Given the description of an element on the screen output the (x, y) to click on. 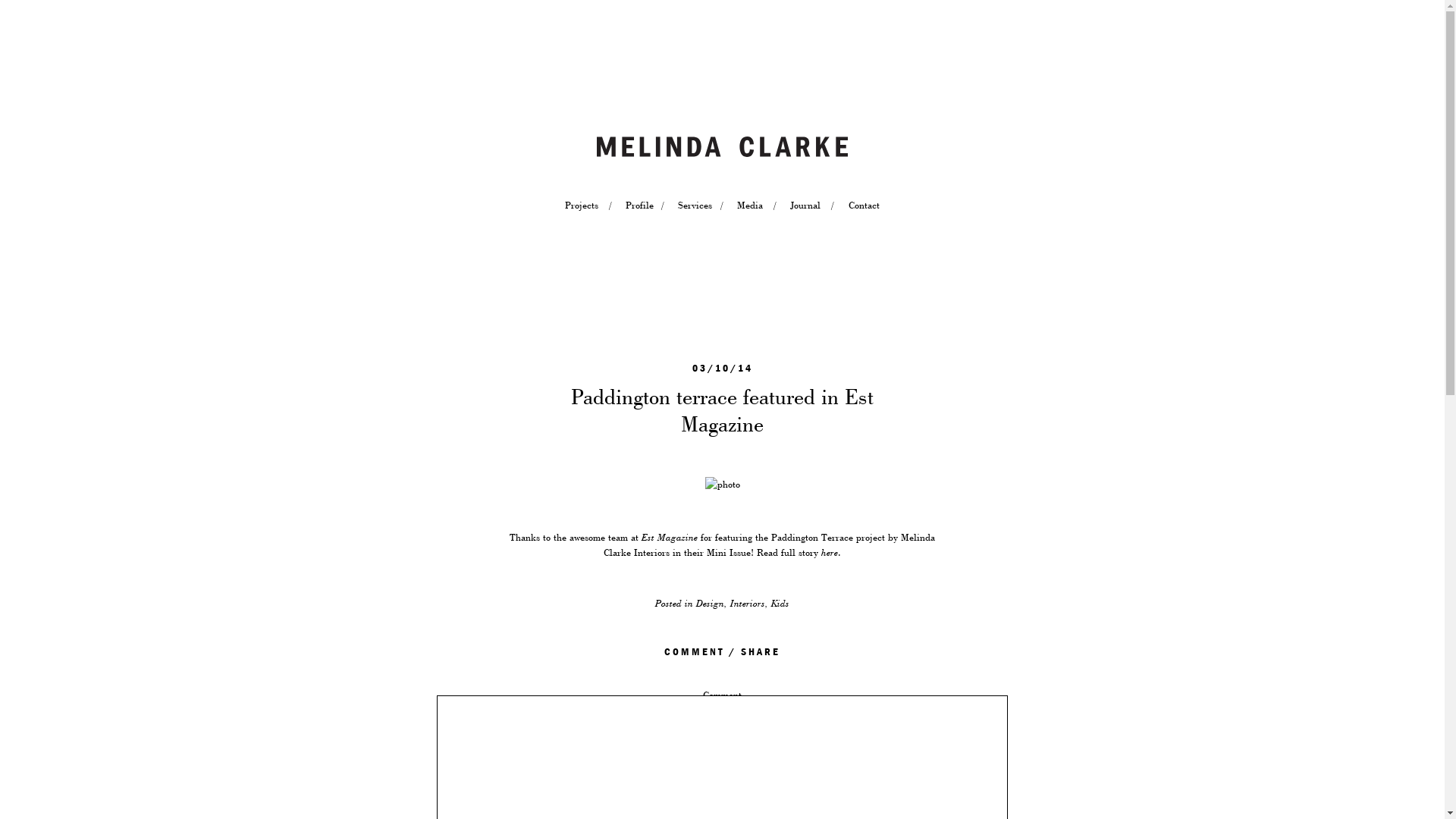
Kids Element type: text (780, 603)
Profile Element type: text (637, 205)
Projects Element type: text (581, 205)
SHARE Element type: text (760, 651)
COMMENT Element type: text (694, 651)
Design Element type: text (710, 603)
Journal Element type: text (805, 205)
Services Element type: text (693, 205)
here Element type: text (829, 552)
Media Element type: text (749, 205)
Contact Element type: text (863, 205)
Est Magazine Element type: text (669, 537)
Interiors Element type: text (747, 603)
